Given the description of an element on the screen output the (x, y) to click on. 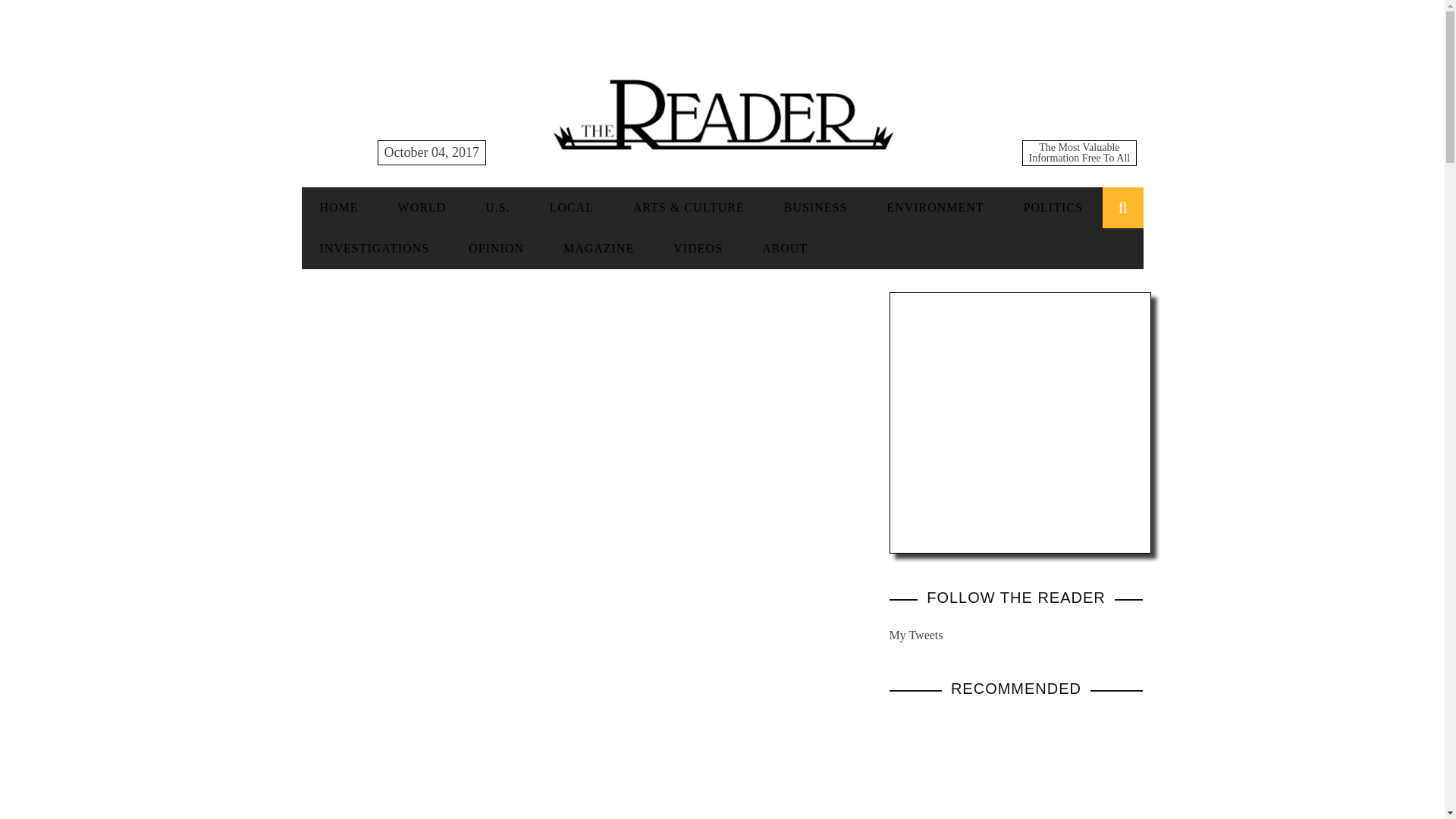
WORLD (422, 206)
HOME (339, 206)
